Given the description of an element on the screen output the (x, y) to click on. 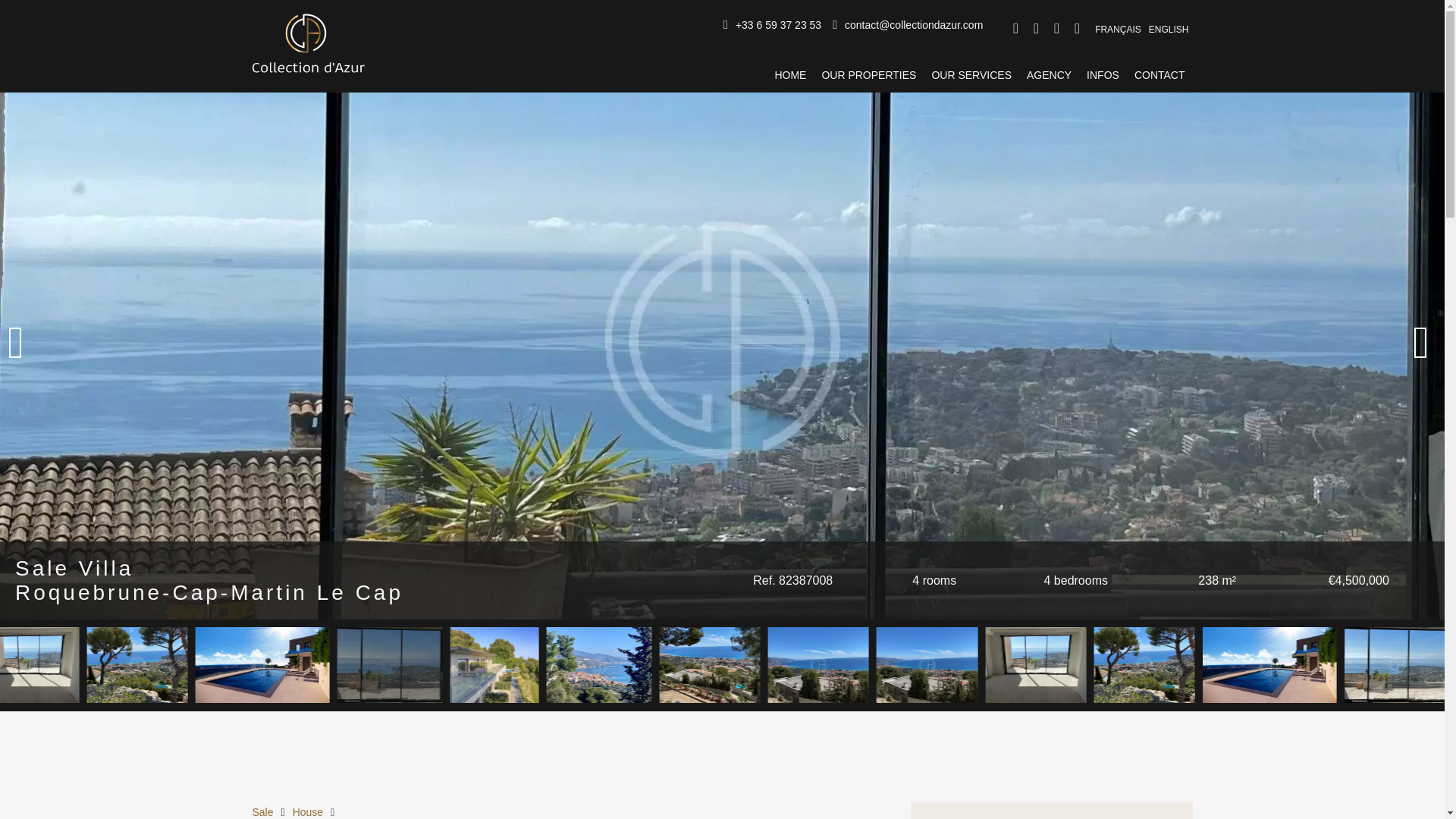
CONTACT (1159, 74)
INFOS (1102, 74)
AGENCY (1048, 74)
Sale (262, 811)
HOME (790, 74)
OUR SERVICES (971, 74)
ENGLISH (1168, 28)
OUR PROPERTIES (868, 74)
House (307, 811)
